Given the description of an element on the screen output the (x, y) to click on. 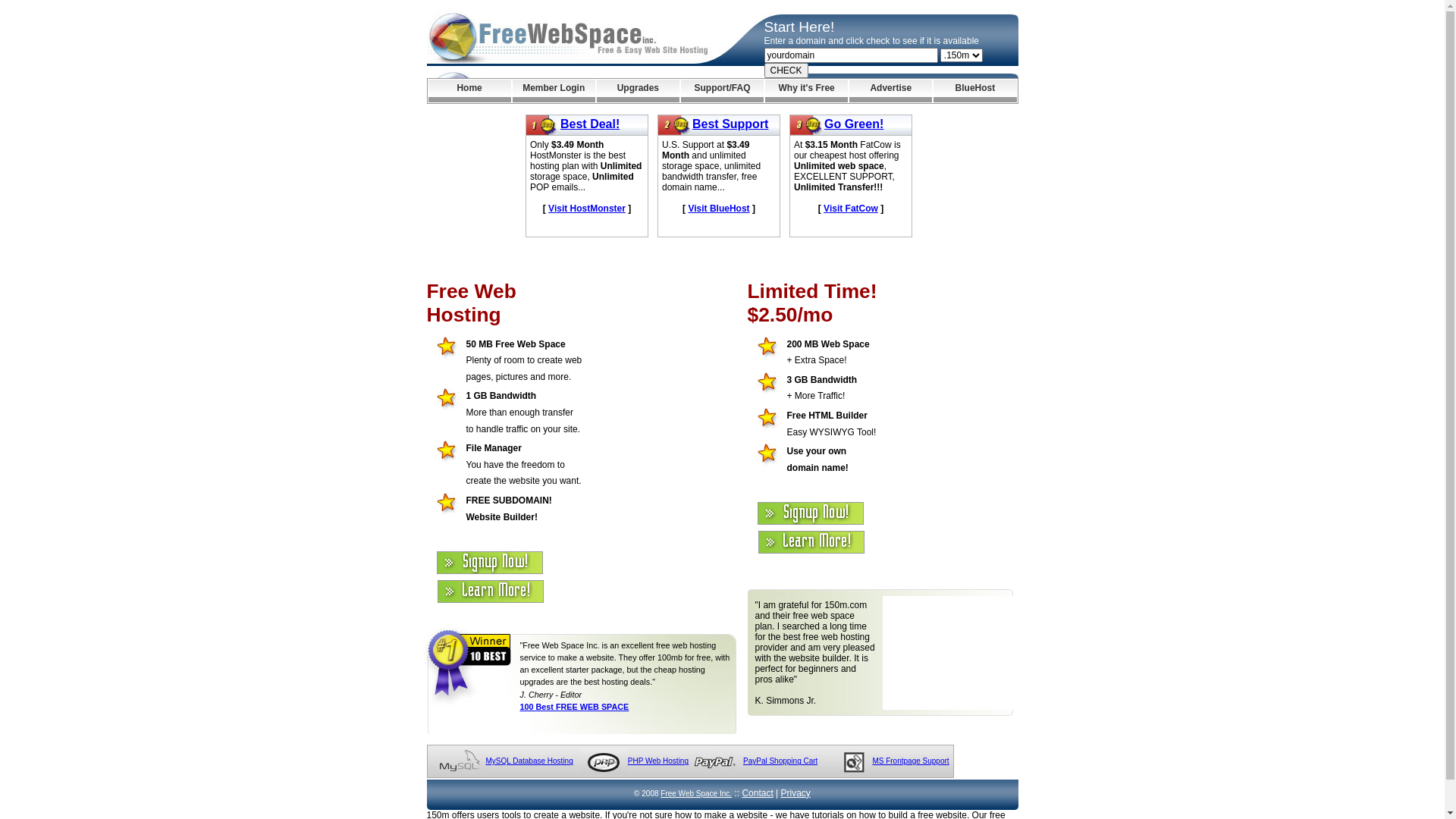
Home Element type: text (468, 90)
MySQL Database Hosting Element type: text (528, 760)
PHP Web Hosting Element type: text (657, 760)
Advertise Element type: text (890, 90)
CHECK Element type: text (786, 70)
Why it's Free Element type: text (806, 90)
Privacy Element type: text (795, 792)
MS Frontpage Support Element type: text (910, 760)
Free Web Space Inc. Element type: text (695, 793)
Contact Element type: text (756, 792)
Upgrades Element type: text (637, 90)
100 Best FREE WEB SPACE Element type: text (574, 706)
BlueHost Element type: text (974, 90)
Support/FAQ Element type: text (721, 90)
PayPal Shopping Cart Element type: text (780, 760)
Member Login Element type: text (553, 90)
